Given the description of an element on the screen output the (x, y) to click on. 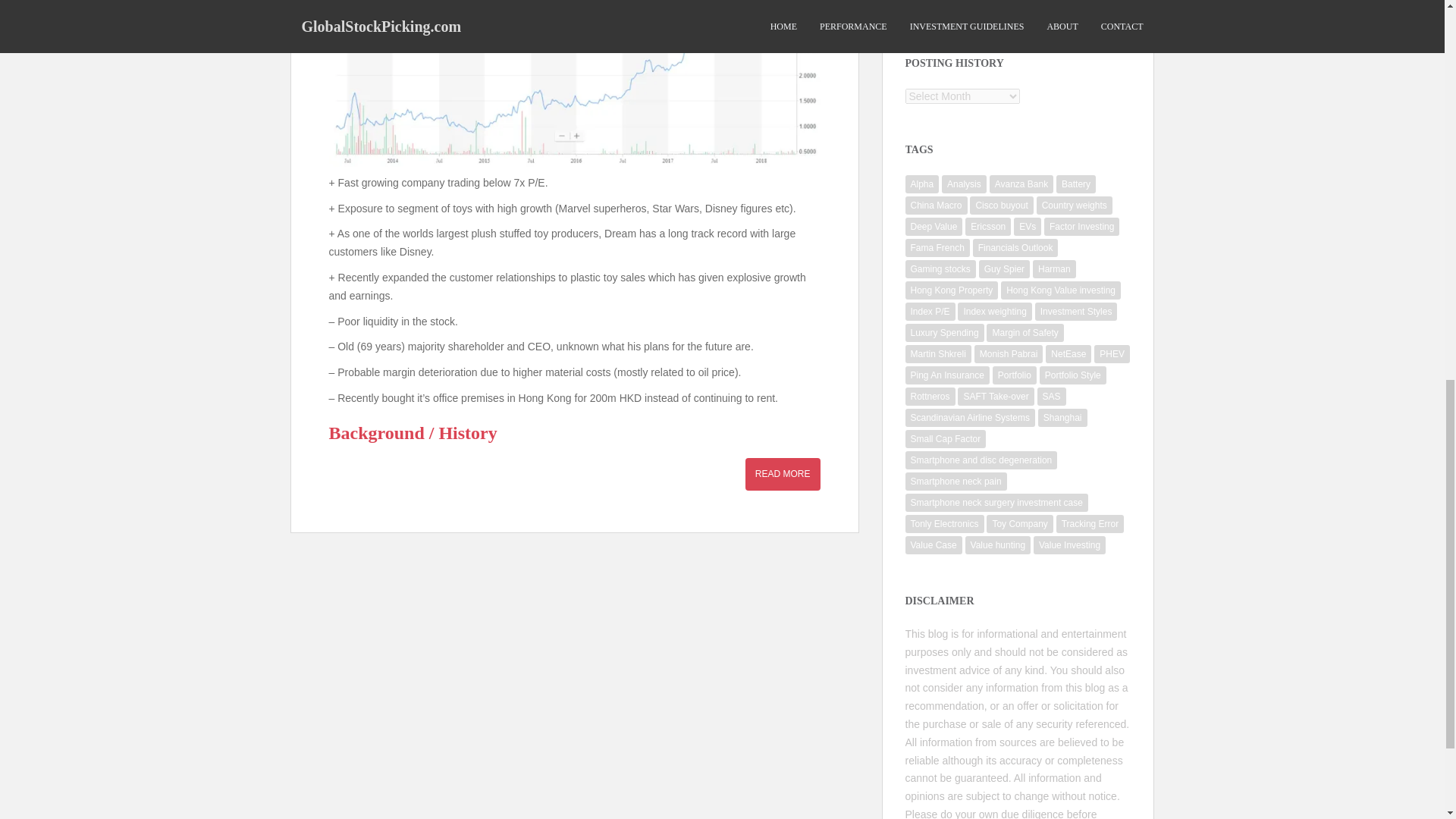
READ MORE (783, 473)
Fama French (937, 248)
Battery (1076, 184)
Country weights (1074, 205)
Factor Investing (1081, 226)
Ericsson (987, 226)
Alpha (922, 184)
Analysis (964, 184)
Avanza Bank (1022, 184)
I promised a fresh start and something new (1012, 1)
Cisco buyout (1000, 205)
EVs (1027, 226)
China Macro (936, 205)
Deep Value (933, 226)
